Given the description of an element on the screen output the (x, y) to click on. 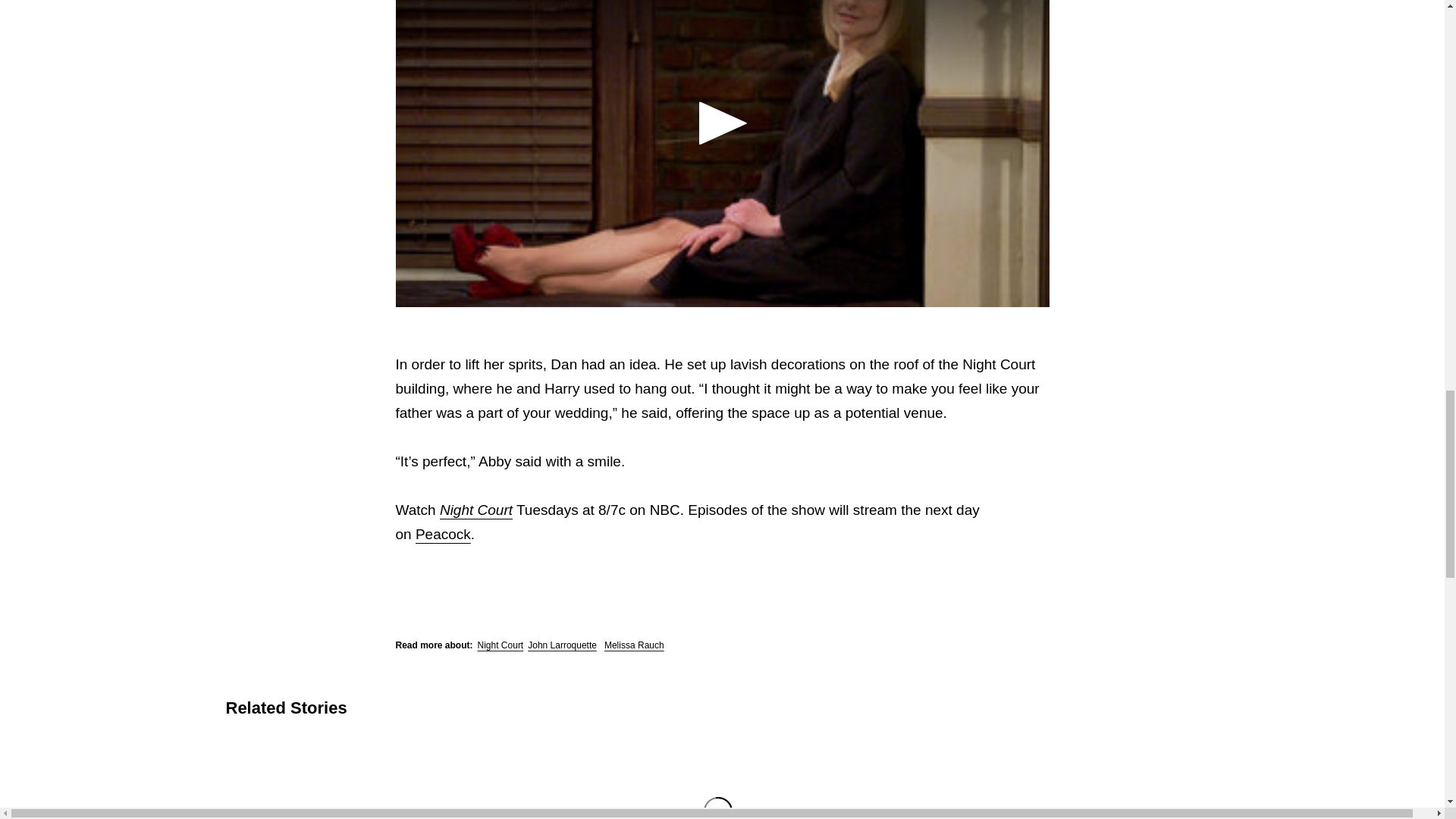
Melissa Rauch (633, 644)
Night Court (475, 509)
Night Court (500, 644)
Peacock (442, 534)
John Larroquette (561, 644)
